Given the description of an element on the screen output the (x, y) to click on. 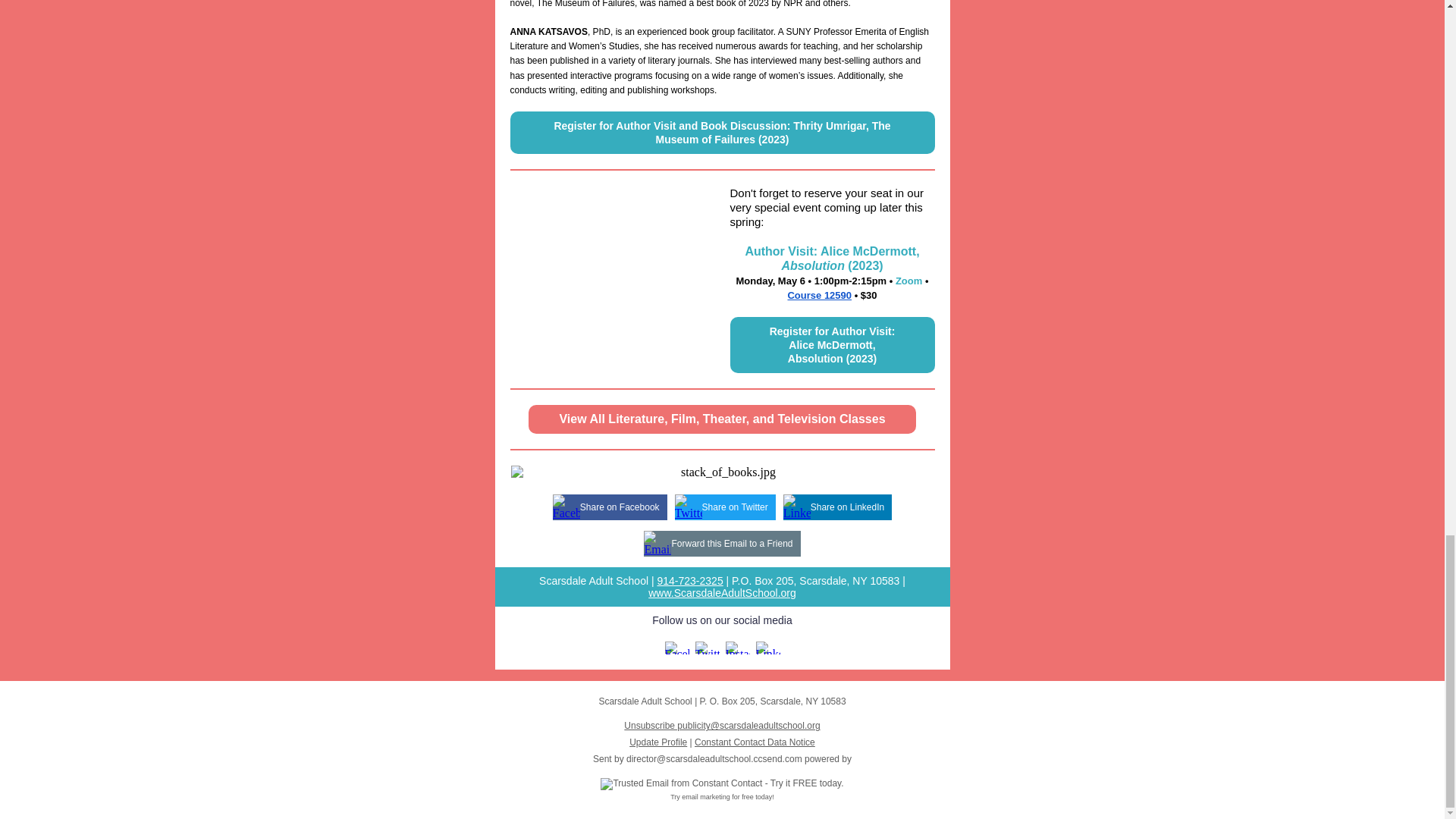
914-723-2325 (689, 580)
Try email marketing for free today! (721, 796)
Constant Contact Data Notice (754, 742)
Forward this Email to a Friend (731, 543)
View All Literature, Film, Theater, and Television Classes (722, 418)
Share on LinkedIn (846, 507)
Share on Twitter (734, 507)
www.ScarsdaleAdultSchool.org (721, 592)
Share on Facebook (619, 507)
Update Profile (657, 742)
Course 12590 (819, 295)
